Given the description of an element on the screen output the (x, y) to click on. 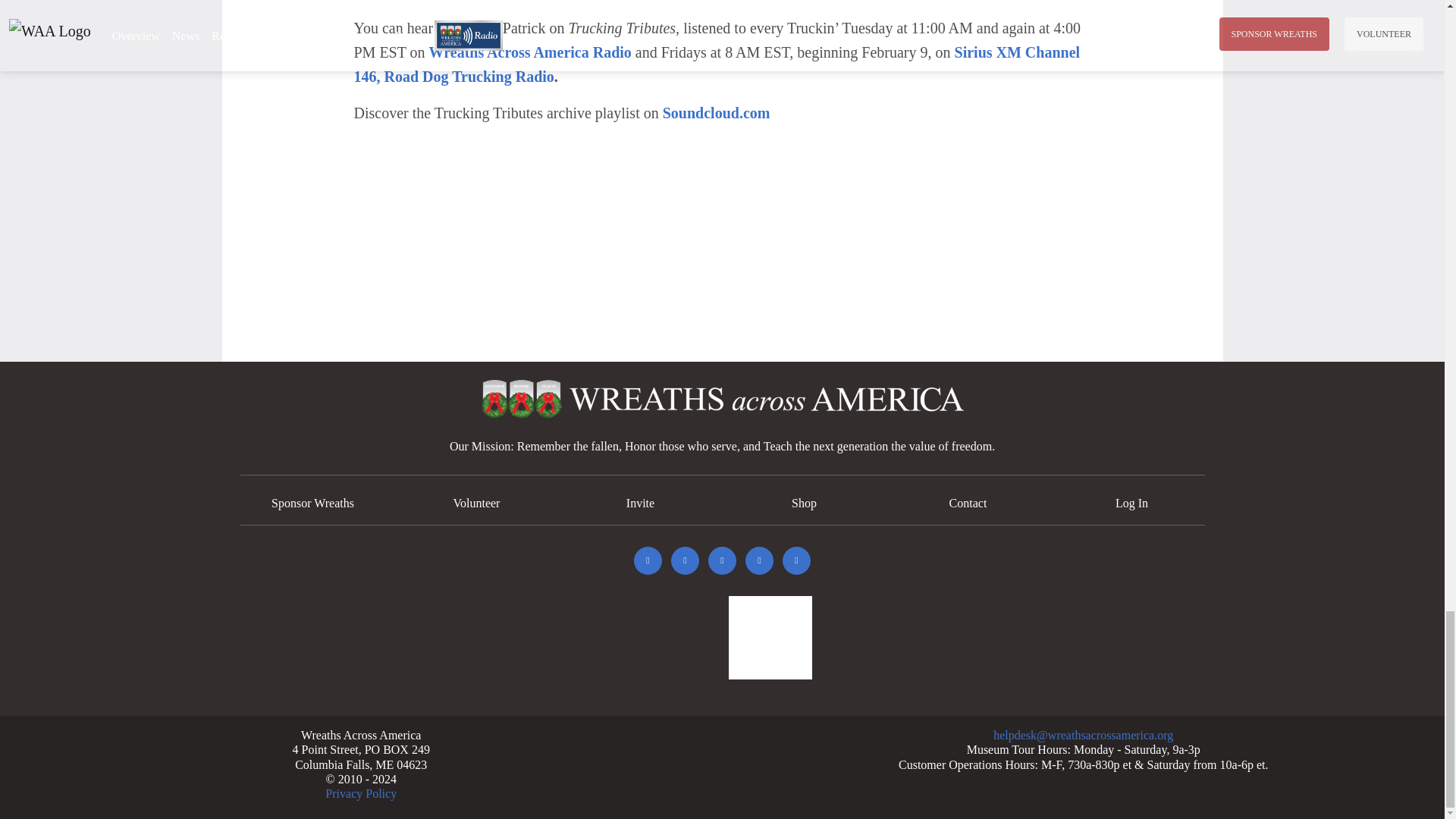
Soundcloud.com (716, 112)
Wreaths Across America Radio (530, 52)
Sponsor Wreaths (311, 502)
Sirius XM Channel 146, Road Dog Trucking Radio (716, 64)
Shop (804, 502)
Log In (1131, 502)
Volunteer (476, 502)
Contact (968, 502)
Invite (639, 502)
Privacy Policy (360, 793)
